Given the description of an element on the screen output the (x, y) to click on. 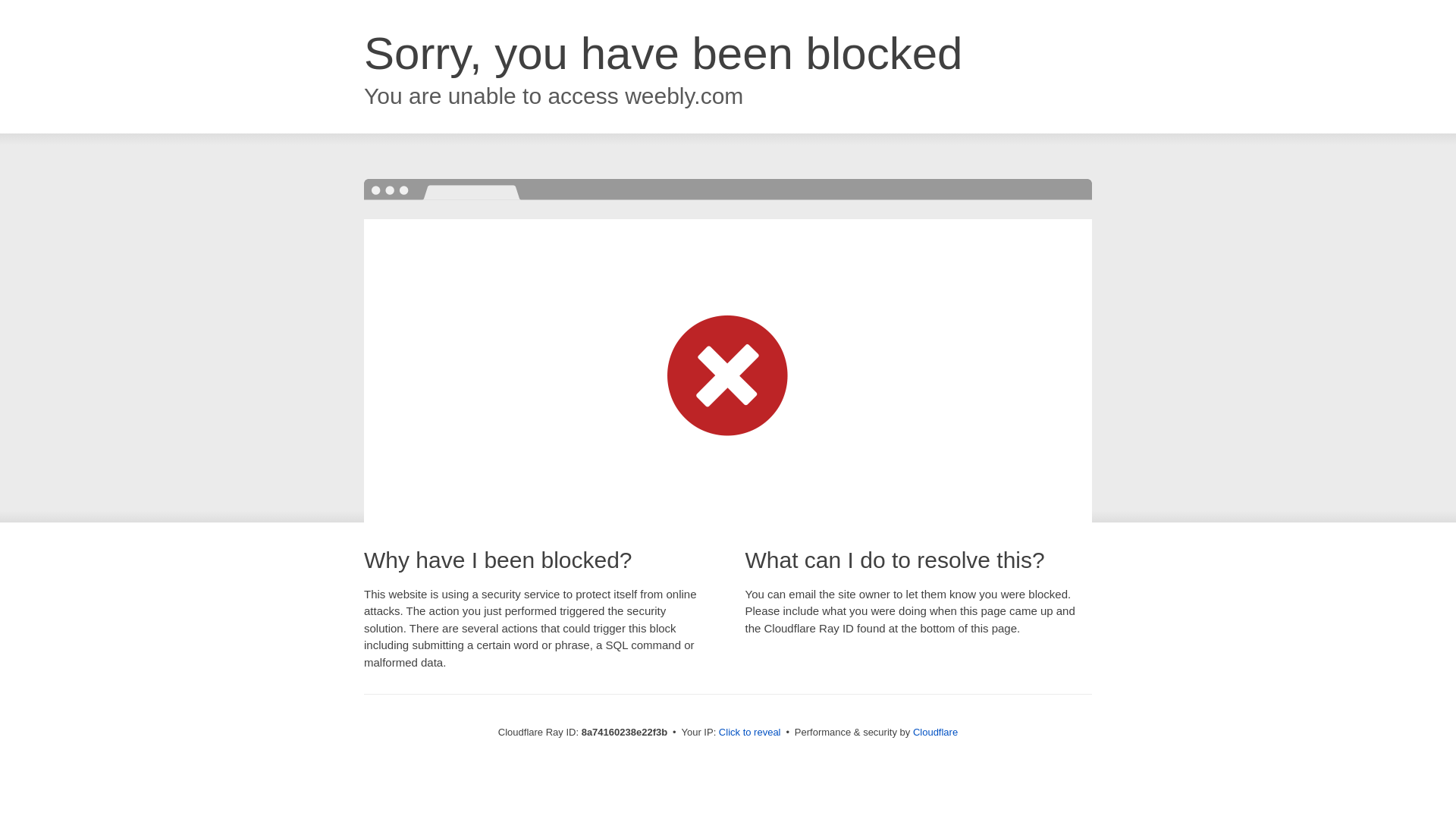
Click to reveal (749, 732)
Cloudflare (935, 731)
